Given the description of an element on the screen output the (x, y) to click on. 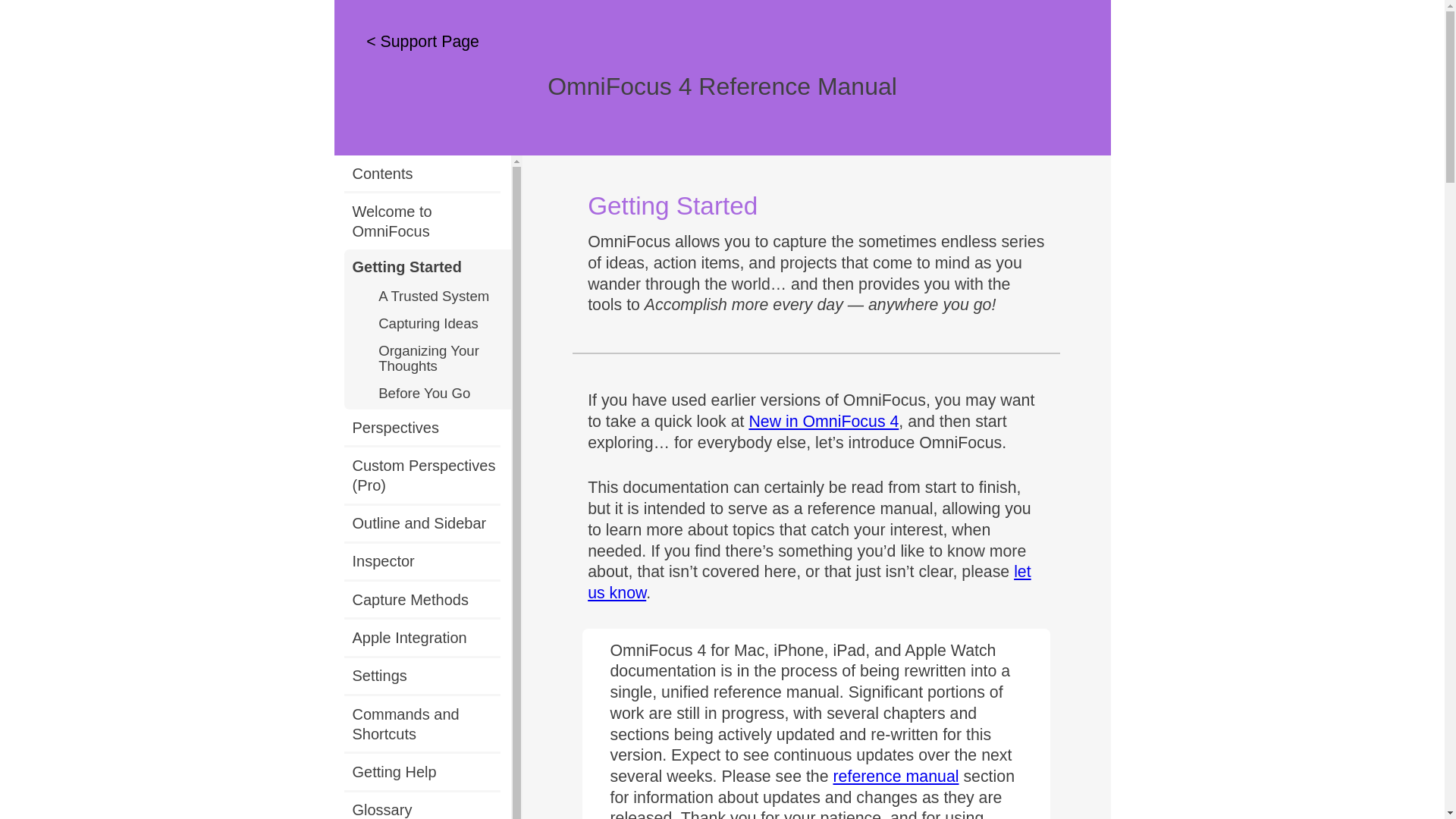
Organizing Your Thoughts (439, 360)
Capturing Ideas (439, 325)
Welcome to OmniFocus (426, 220)
A Trusted System (439, 298)
Contents (426, 172)
Perspectives (426, 427)
Outline and Sidebar (426, 522)
Getting Started (431, 267)
Before You Go (439, 395)
